Given the description of an element on the screen output the (x, y) to click on. 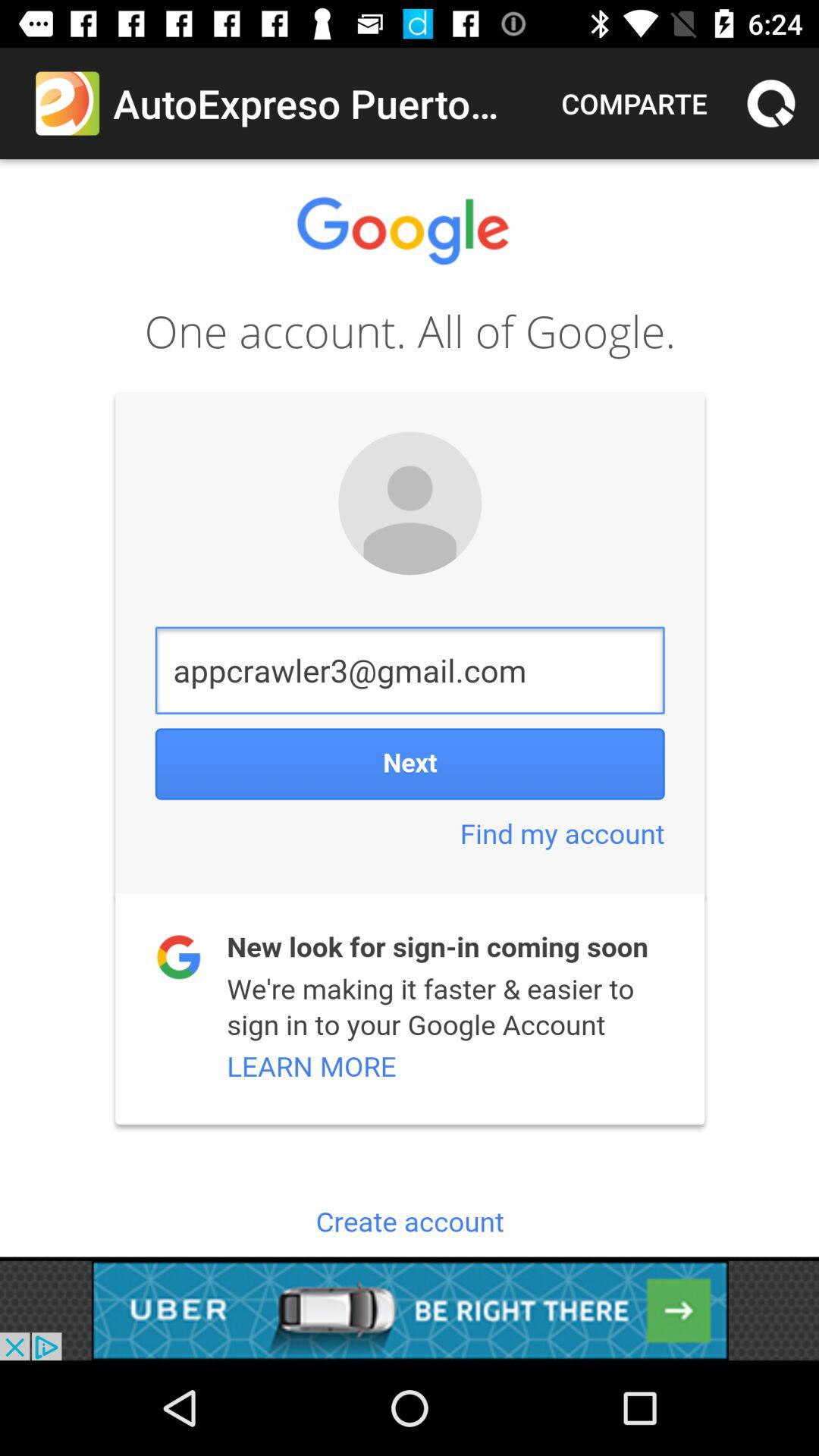
click to sign up (409, 707)
